Given the description of an element on the screen output the (x, y) to click on. 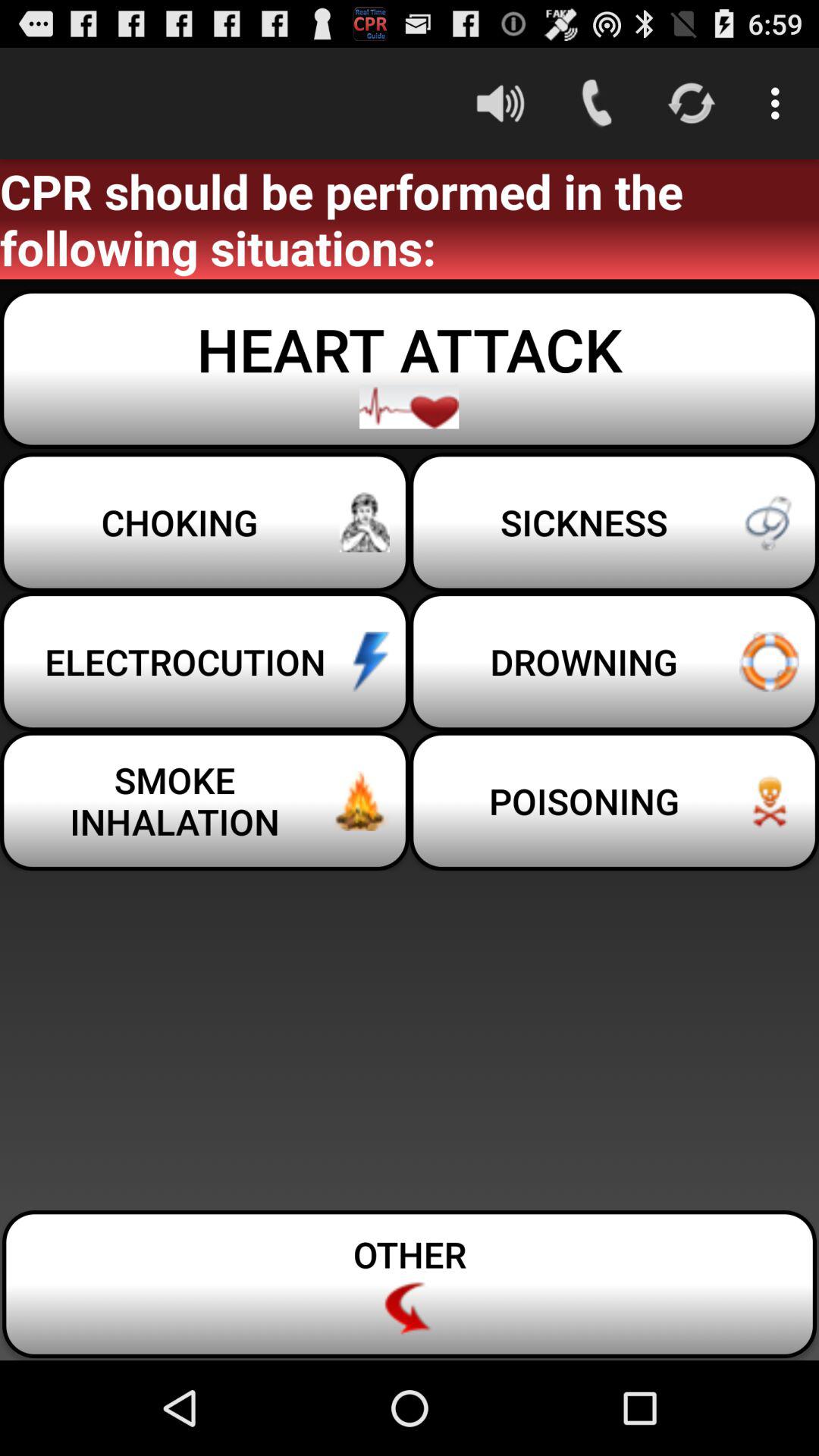
turn off item to the left of the sickness item (204, 661)
